Given the description of an element on the screen output the (x, y) to click on. 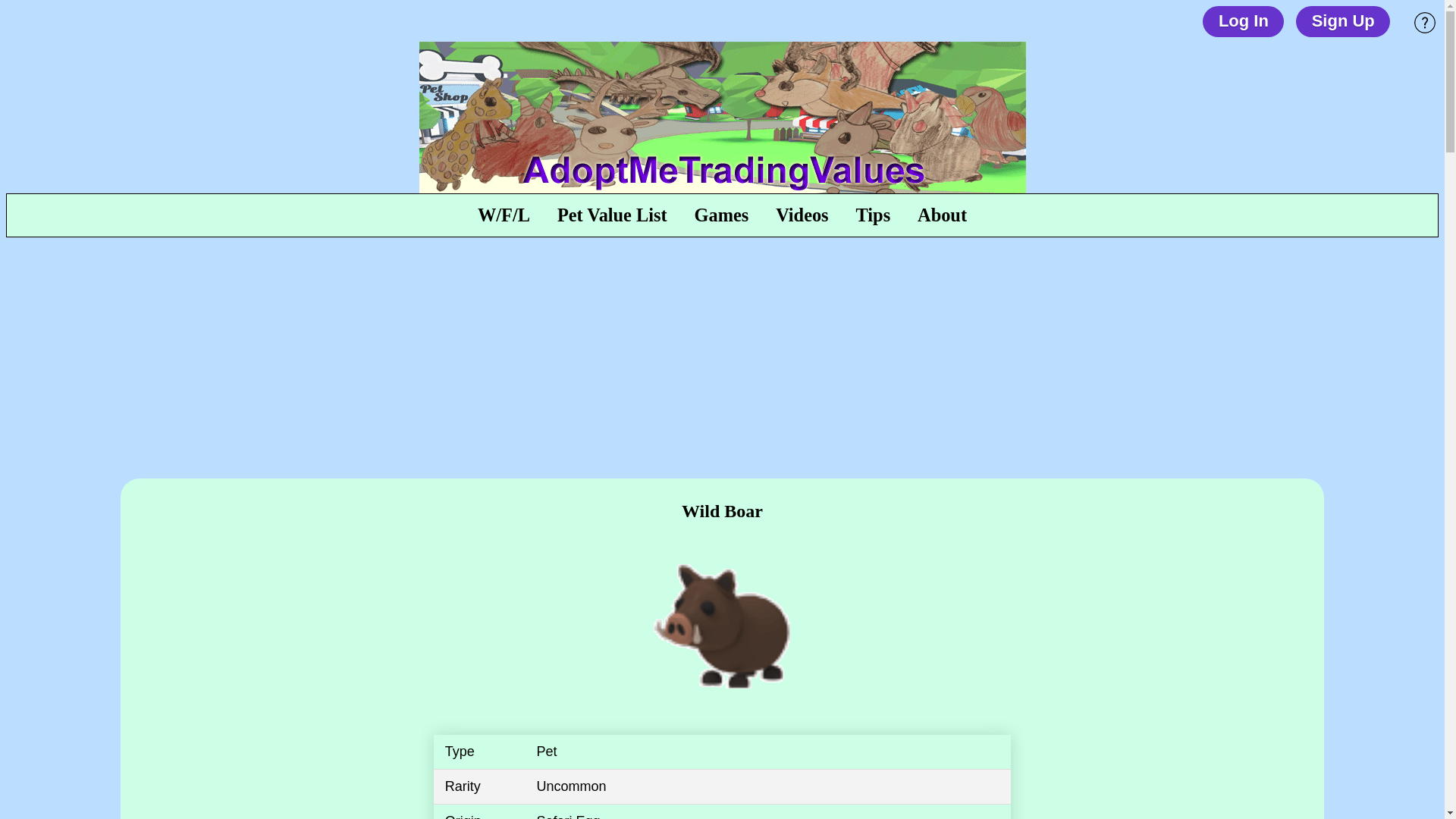
Login (721, 425)
Log In (1243, 20)
About (941, 215)
Pet Value List (611, 215)
Help (1424, 22)
Sign Up (1342, 20)
Games (721, 215)
Wild Boar  - Uncommon from Safari Egg (721, 625)
Tips (873, 215)
Videos (801, 215)
